Given the description of an element on the screen output the (x, y) to click on. 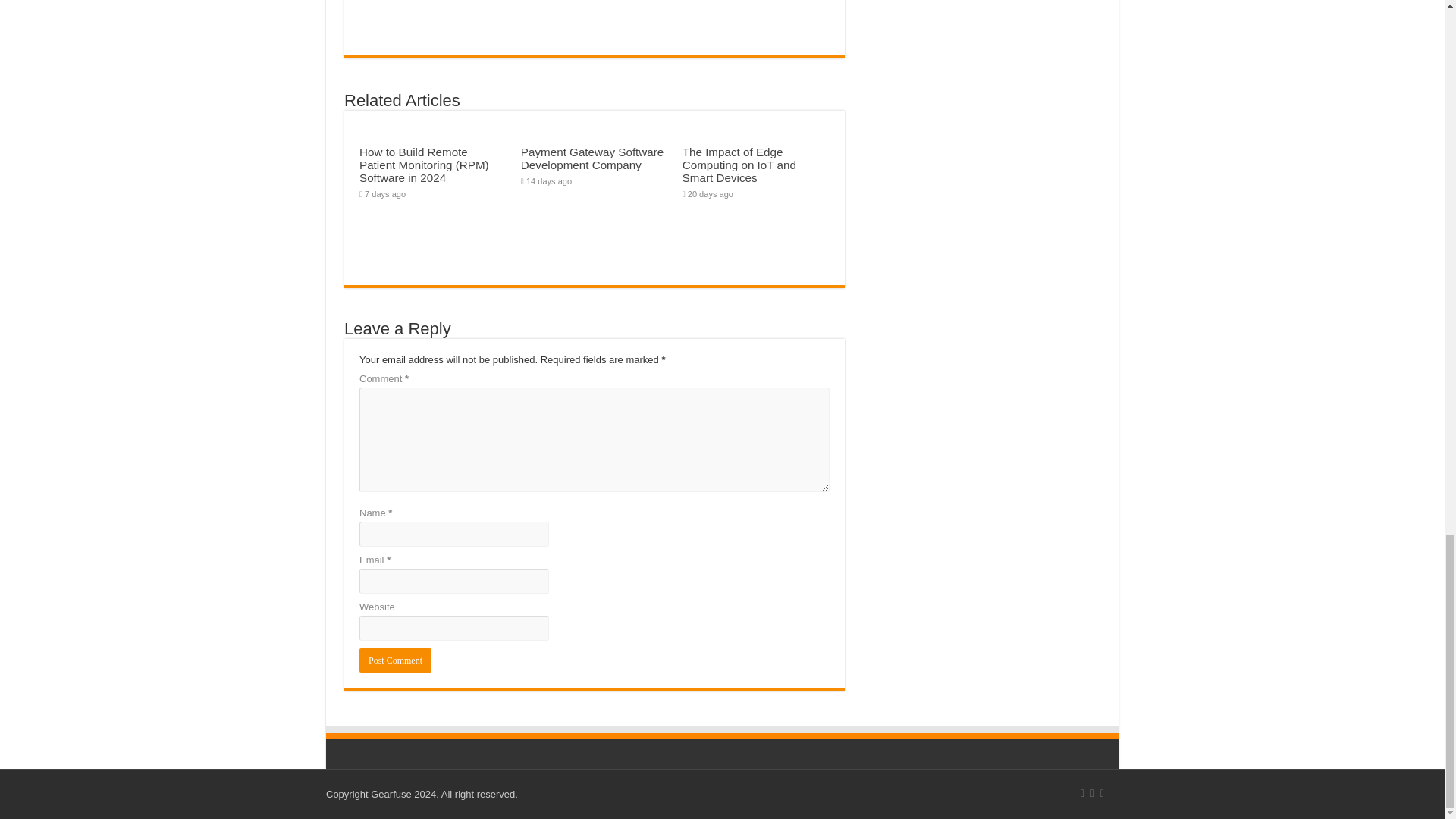
Post Comment (394, 660)
